Given the description of an element on the screen output the (x, y) to click on. 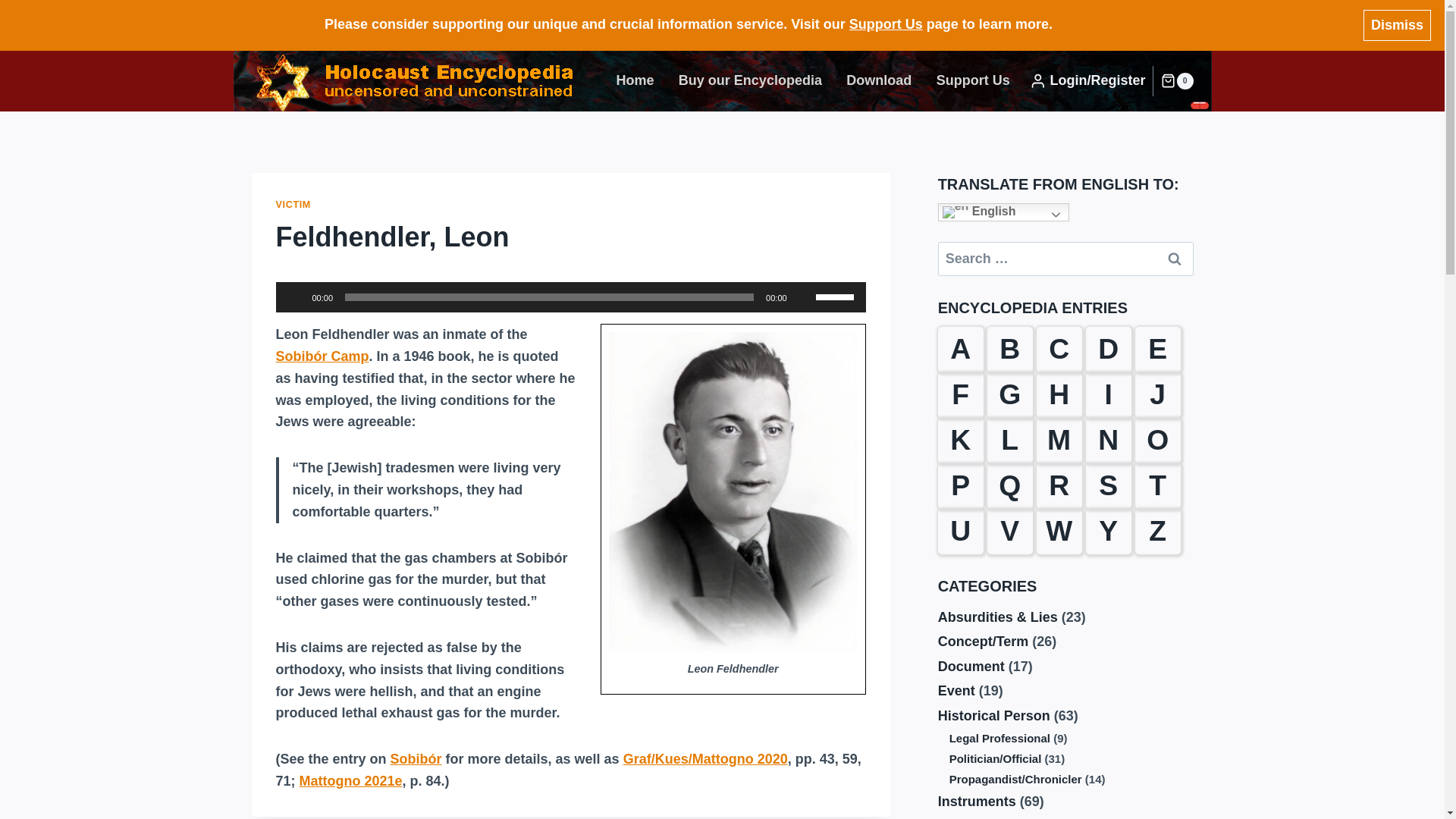
Dismiss (1396, 25)
VICTIM (293, 204)
Home (634, 80)
0 (1176, 80)
Support Us (972, 80)
Play (295, 296)
Search (1174, 258)
Mattogno 2021e (351, 780)
Mute (803, 296)
Support Us (885, 23)
